Given the description of an element on the screen output the (x, y) to click on. 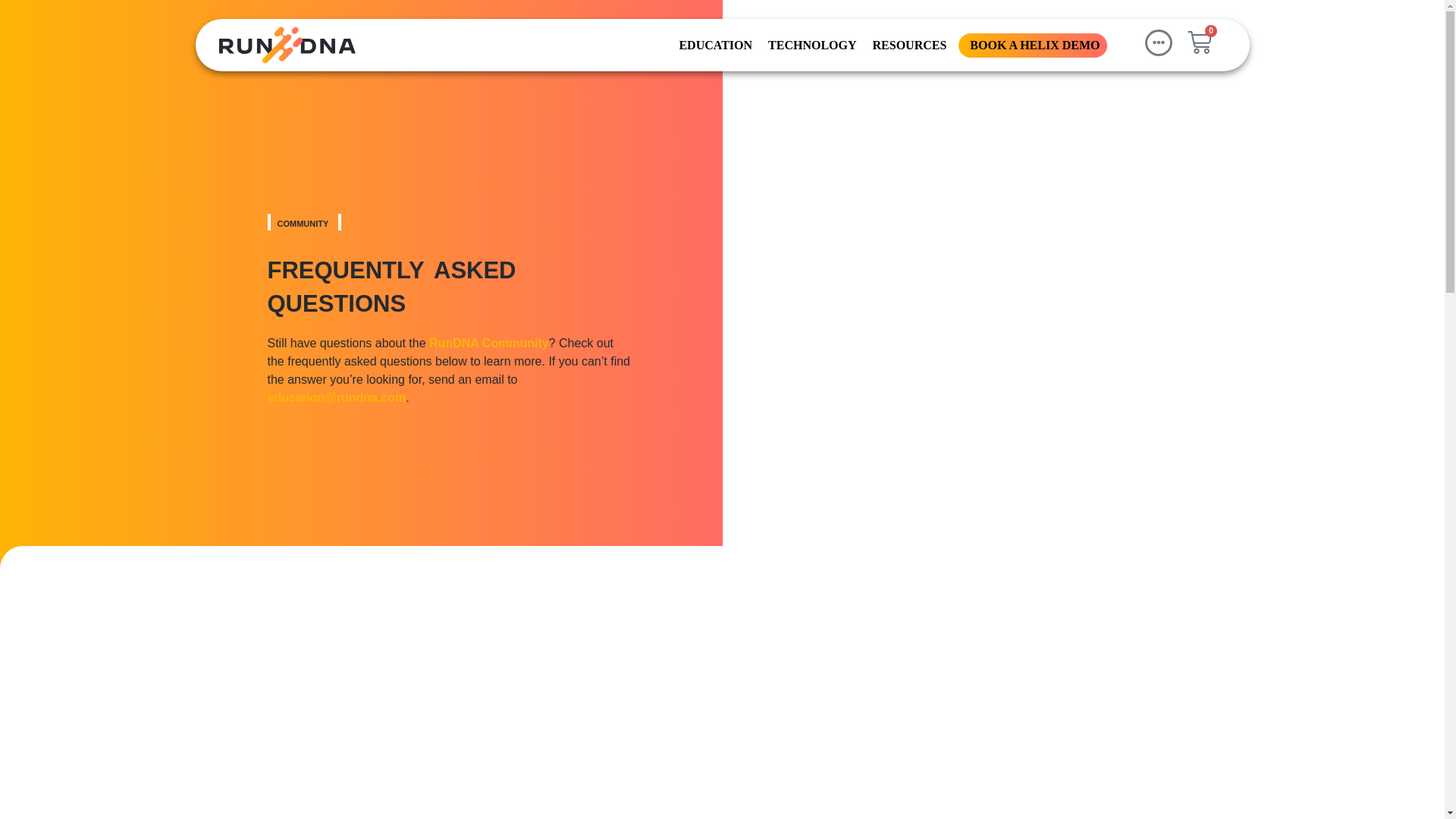
TECHNOLOGY (810, 44)
BOOK A HELIX DEMO (1032, 44)
EDUCATION (713, 44)
RESOURCES (908, 44)
